Given the description of an element on the screen output the (x, y) to click on. 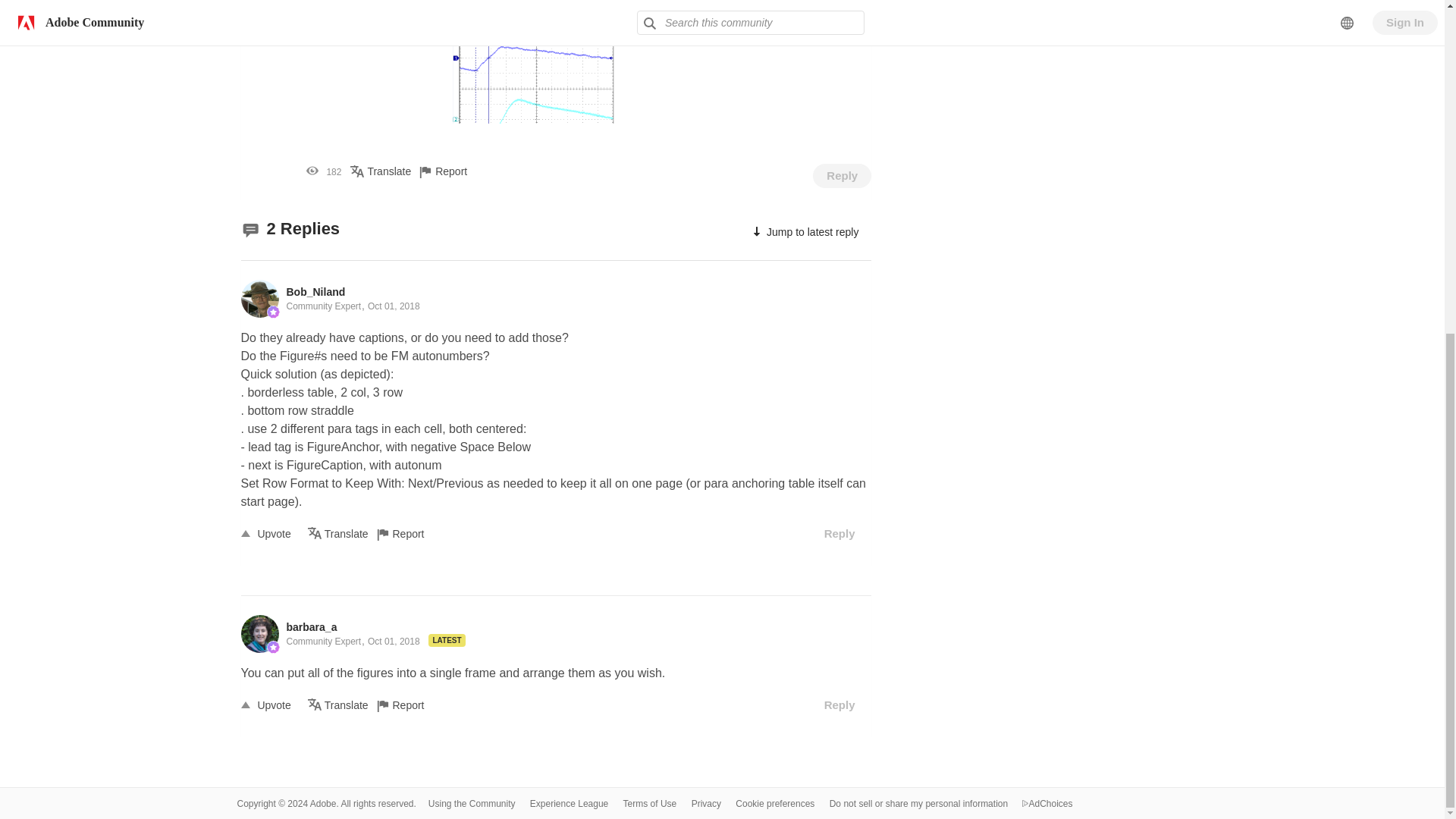
Report (410, 532)
Jump to latest reply (804, 232)
Reply (841, 175)
Report (454, 171)
